Given the description of an element on the screen output the (x, y) to click on. 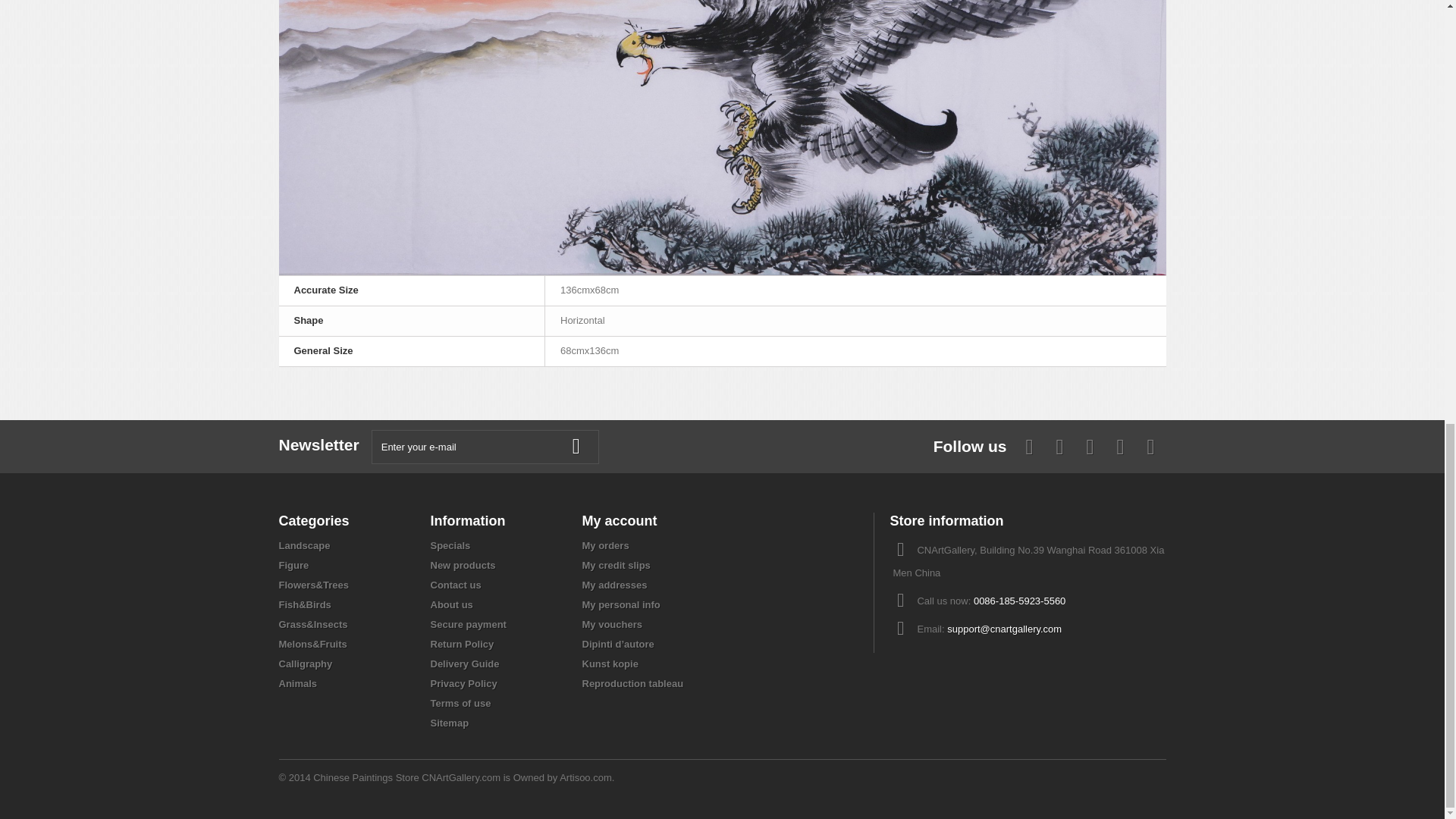
Enter your e-mail (484, 446)
